Given the description of an element on the screen output the (x, y) to click on. 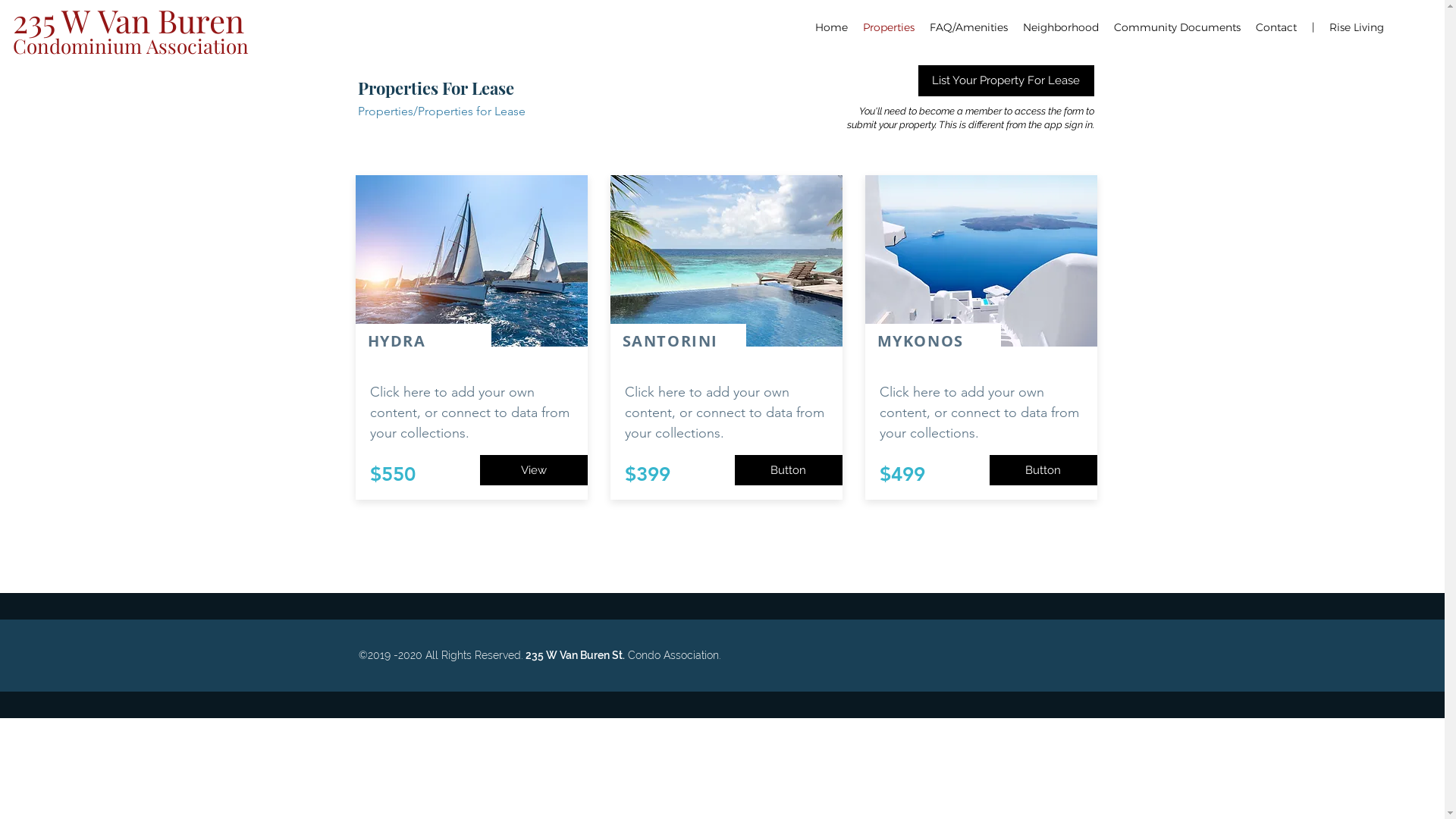
Properties Element type: text (888, 27)
Neighborhood Element type: text (1060, 27)
Rise Living Element type: text (1356, 27)
Contact Element type: text (1276, 27)
FAQ/Amenities Element type: text (968, 27)
Community Documents Element type: text (1177, 27)
Properties Element type: text (385, 110)
Properties for Lease Element type: text (470, 110)
Home Element type: text (831, 27)
List Your Property For Lease Element type: text (1005, 80)
